Given the description of an element on the screen output the (x, y) to click on. 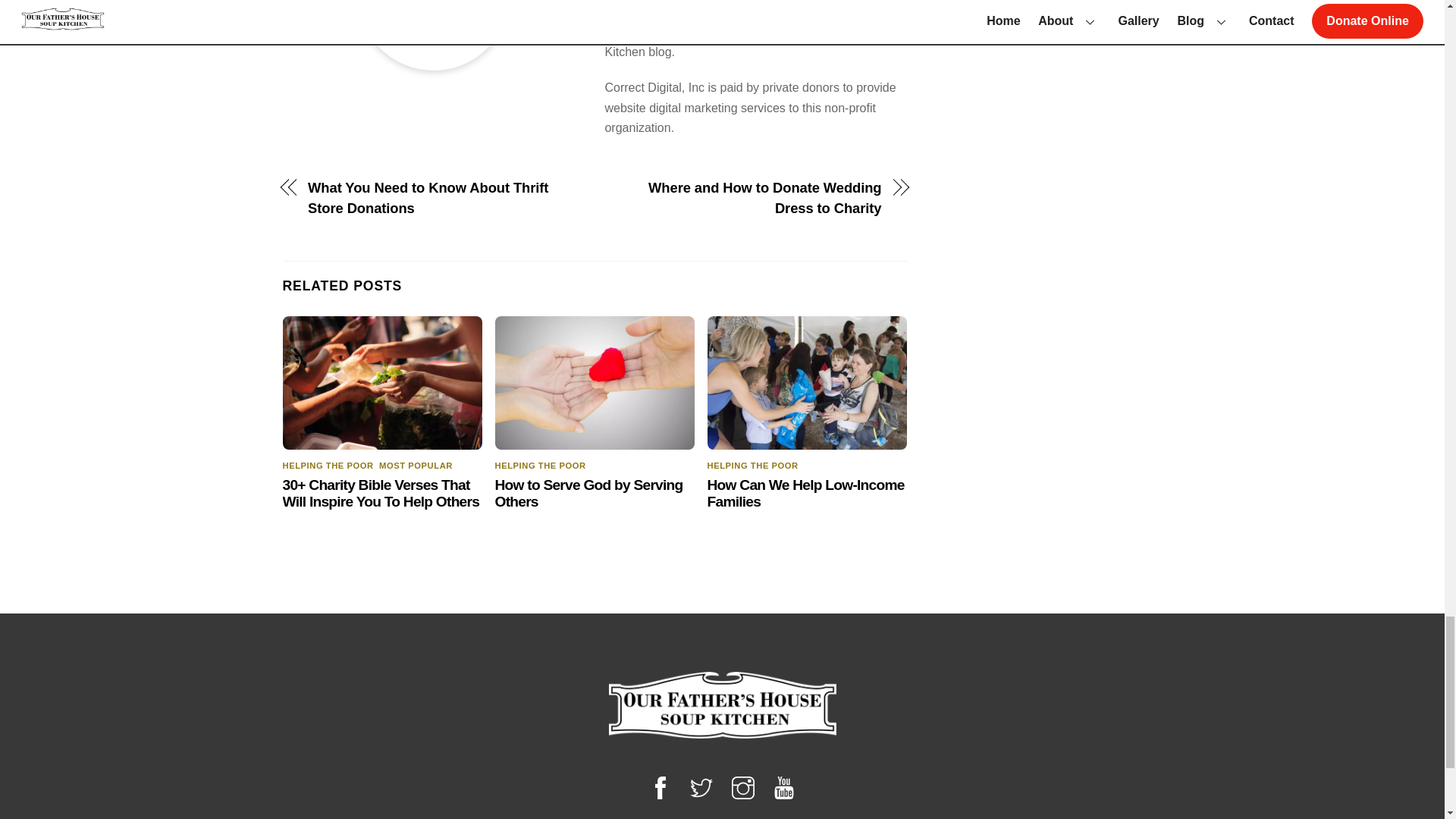
Our-Fathers-house-soup-kitchen-logo (721, 705)
HELPING THE POOR (327, 465)
How to Serve God by Serving Others (595, 382)
Where and How to Donate Wedding Dress to Charity (746, 198)
HELPING THE POOR (540, 465)
How to Serve God by Serving Others (588, 492)
MOST POPULAR (415, 465)
How Can We Help Low-Income Families (805, 492)
HELPING THE POOR (752, 465)
What You Need to Know About Thrift Store Donations (441, 198)
How Can We Help Low-Income Families (807, 382)
Judecia Ponio Author Image (433, 35)
